Given the description of an element on the screen output the (x, y) to click on. 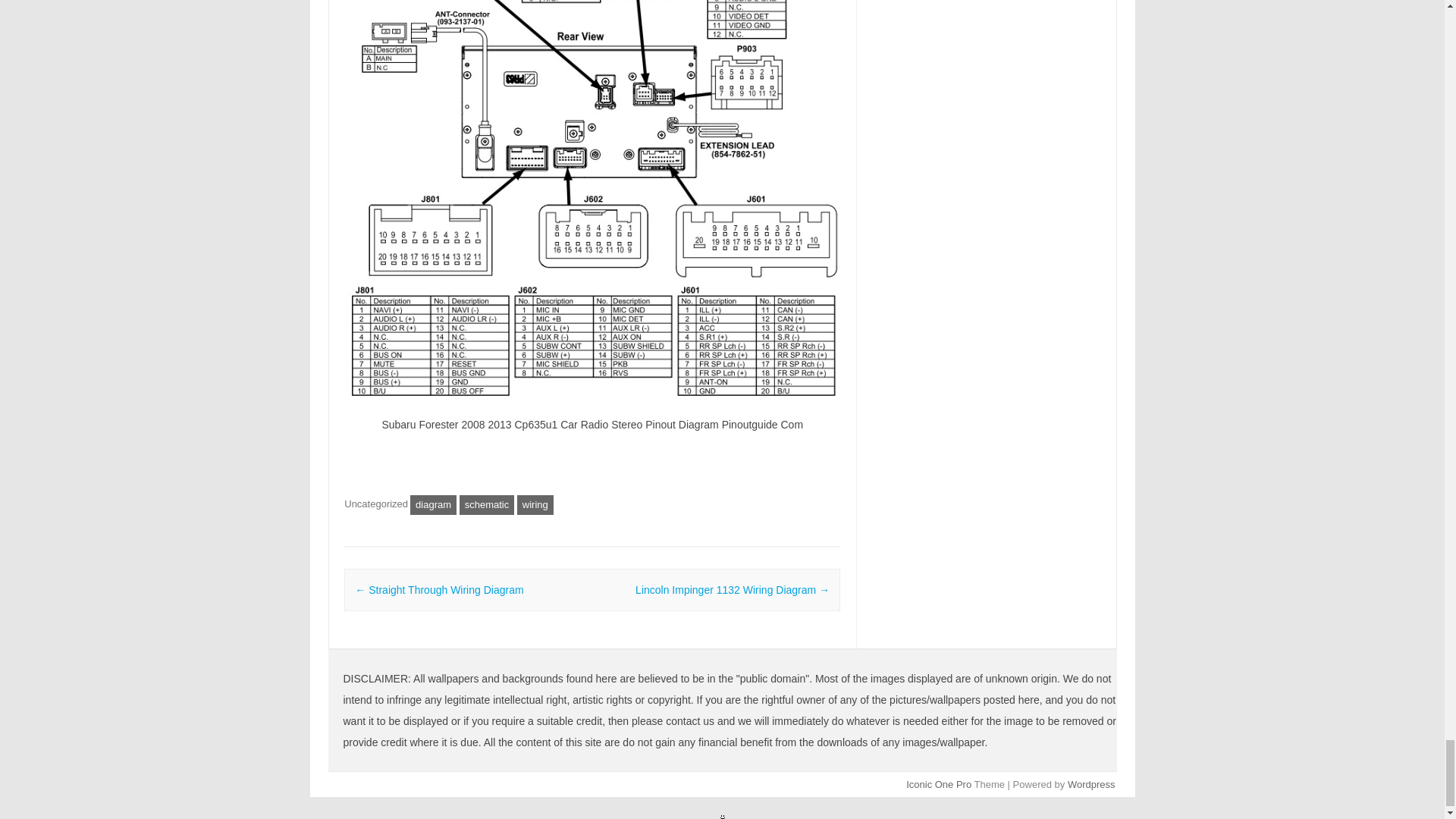
wiring (534, 505)
Iconic One Pro (938, 784)
diagram (433, 505)
Wordpress (1091, 784)
schematic (487, 505)
